Given the description of an element on the screen output the (x, y) to click on. 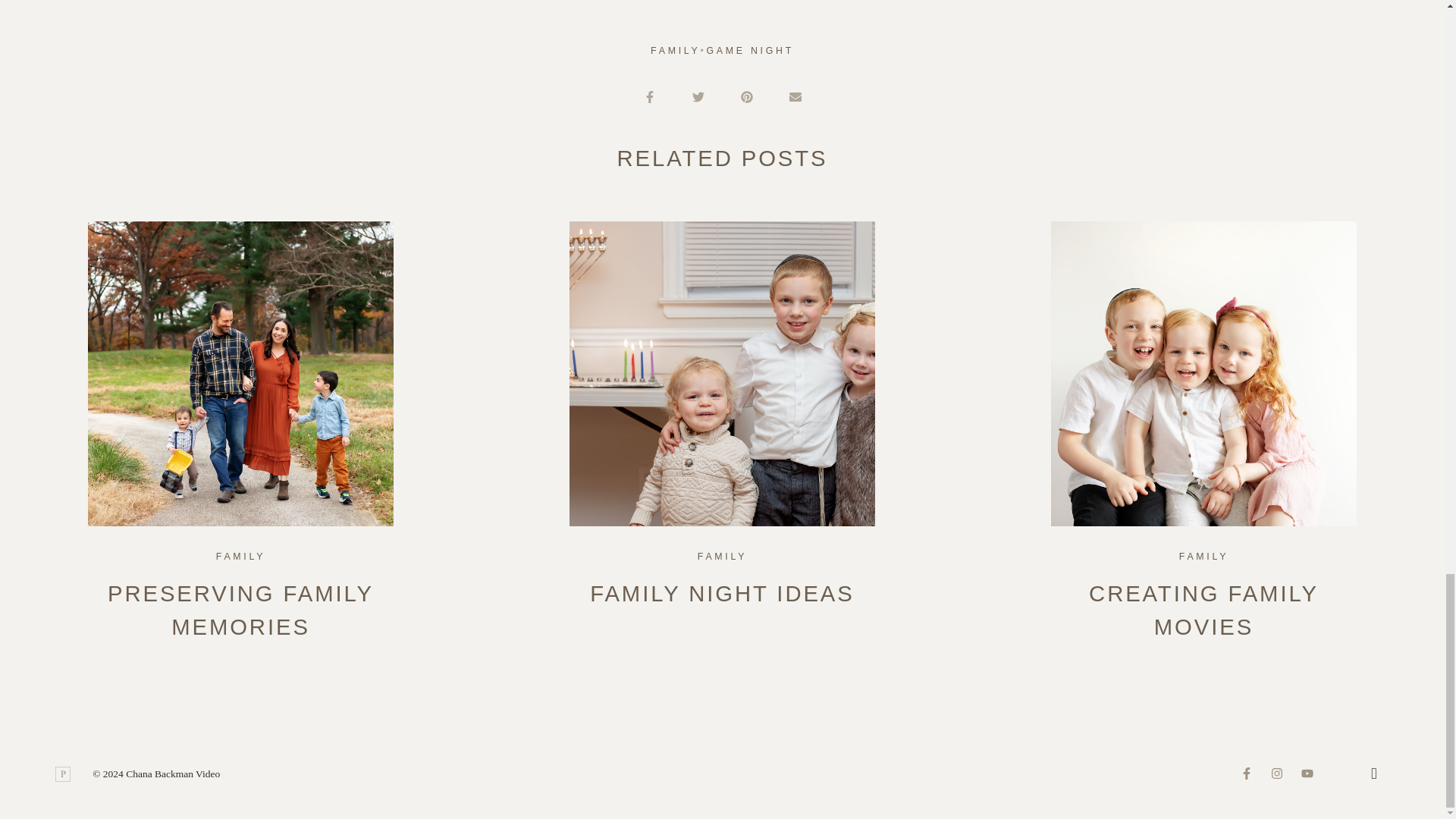
FAMILY (721, 556)
FAMILY (1203, 556)
GAME NIGHT (749, 50)
FAMILY (239, 556)
